Given the description of an element on the screen output the (x, y) to click on. 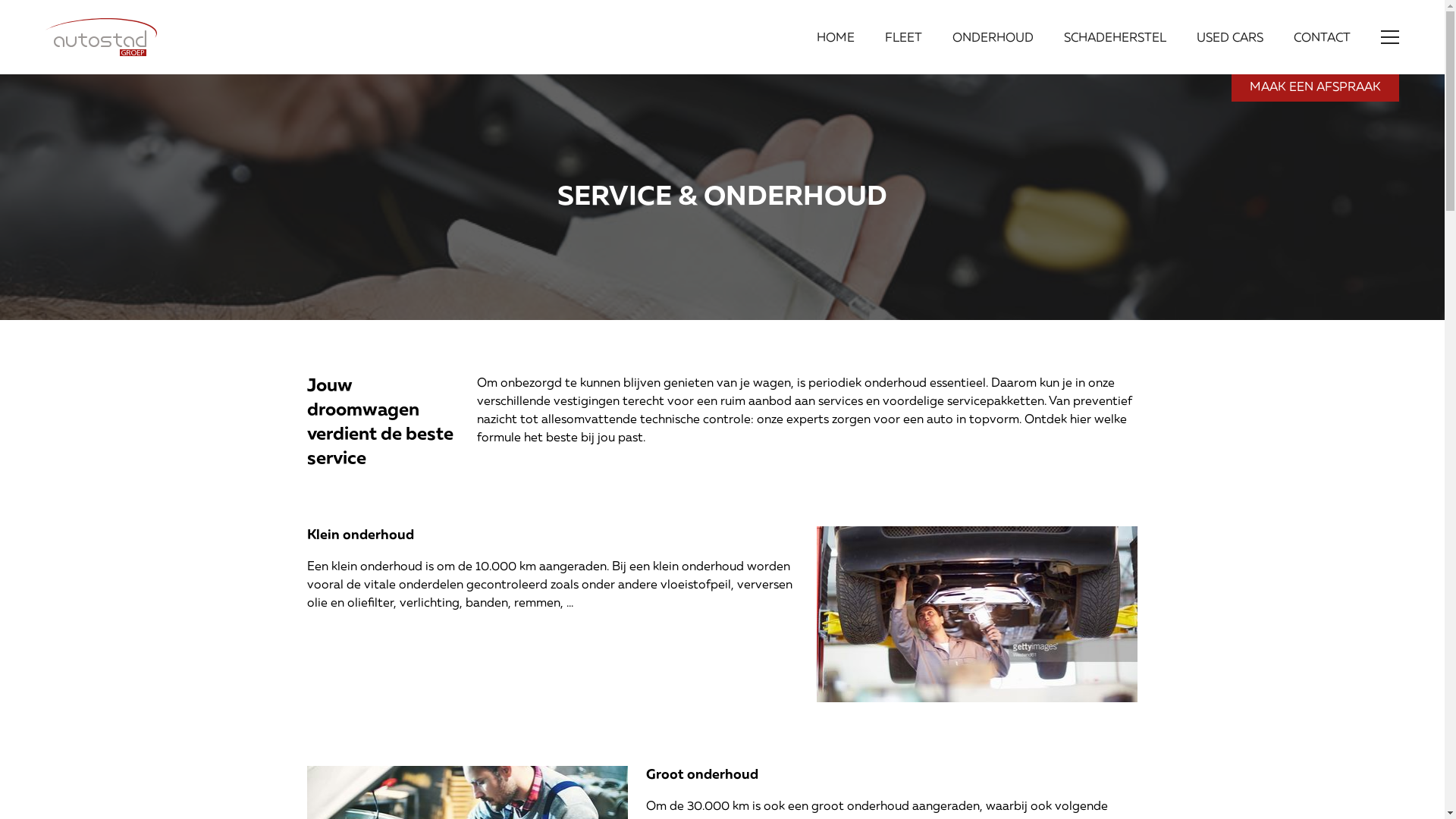
CONTACT Element type: text (1321, 37)
HOME Element type: text (835, 37)
FLEET Element type: text (903, 37)
USED CARS Element type: text (1229, 37)
SCHADEHERSTEL Element type: text (1114, 37)
MAAK EEN AFSPRAAK Element type: text (1315, 87)
ONDERHOUD Element type: text (992, 37)
